Given the description of an element on the screen output the (x, y) to click on. 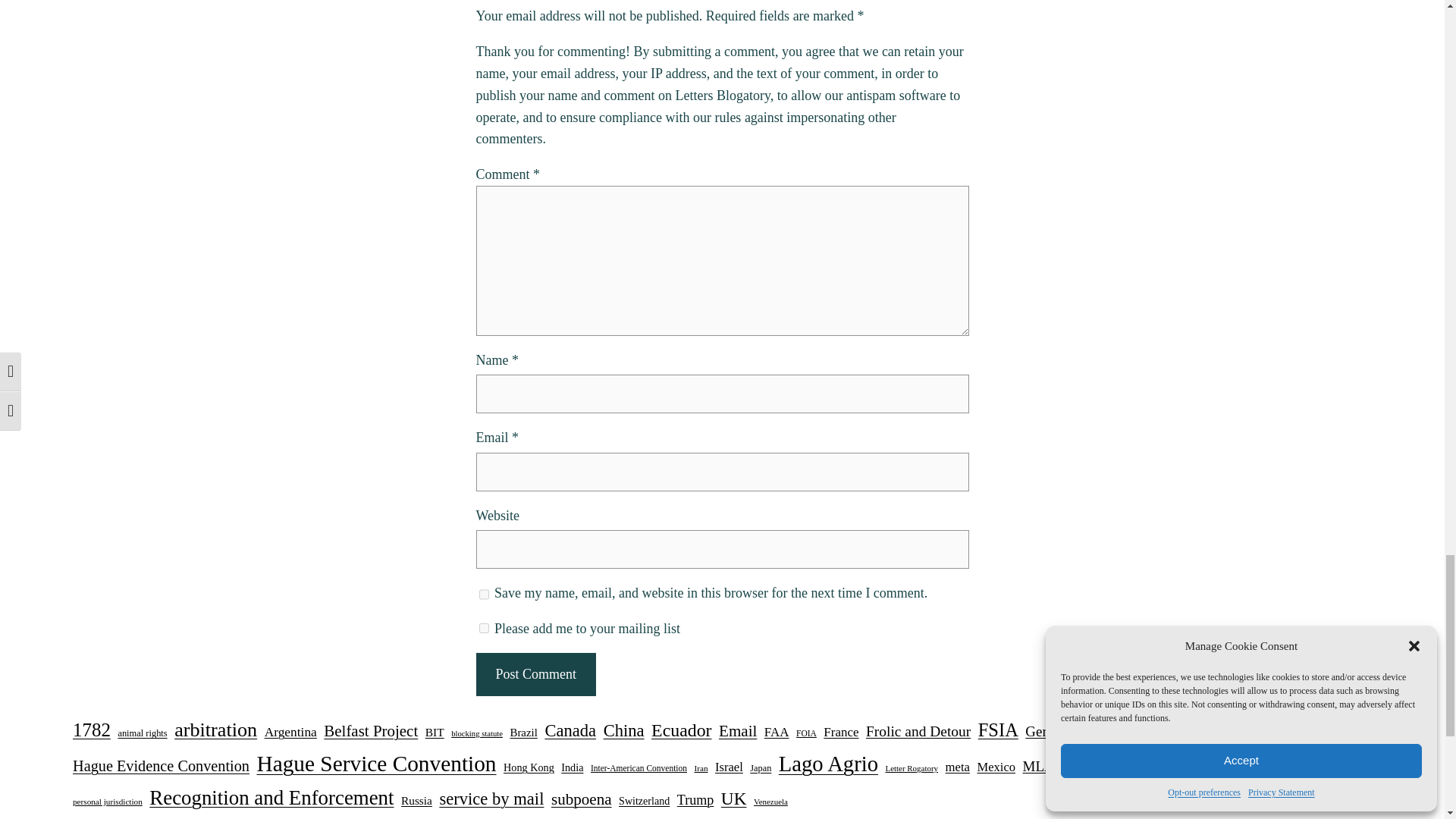
1 (484, 628)
yes (484, 594)
Post Comment (535, 674)
